Given the description of an element on the screen output the (x, y) to click on. 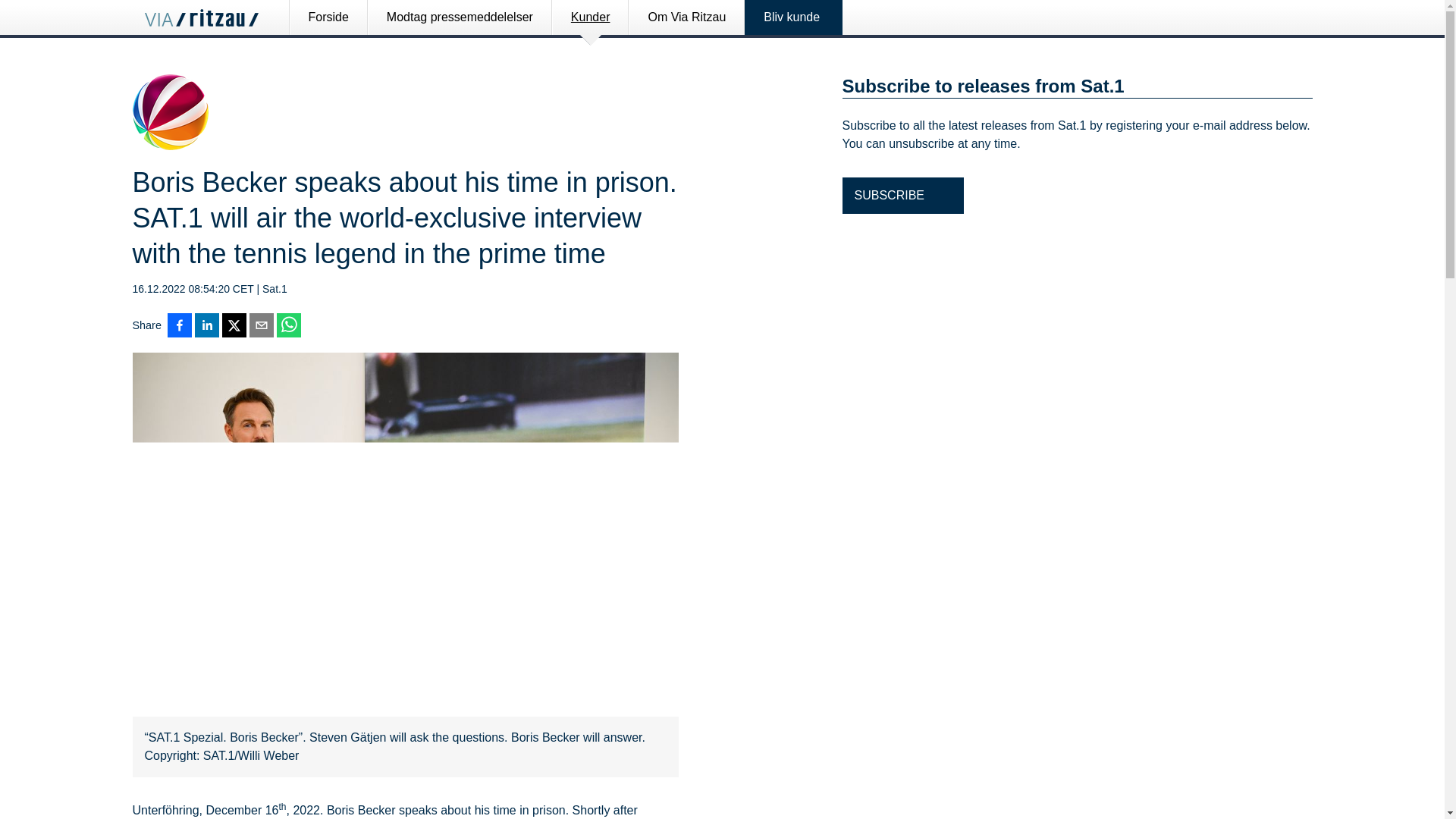
Kunder (590, 17)
Bliv kunde (794, 17)
SUBSCRIBE (901, 195)
Forside (327, 17)
Modtag pressemeddelelser (459, 17)
Om Via Ritzau (686, 17)
